Given the description of an element on the screen output the (x, y) to click on. 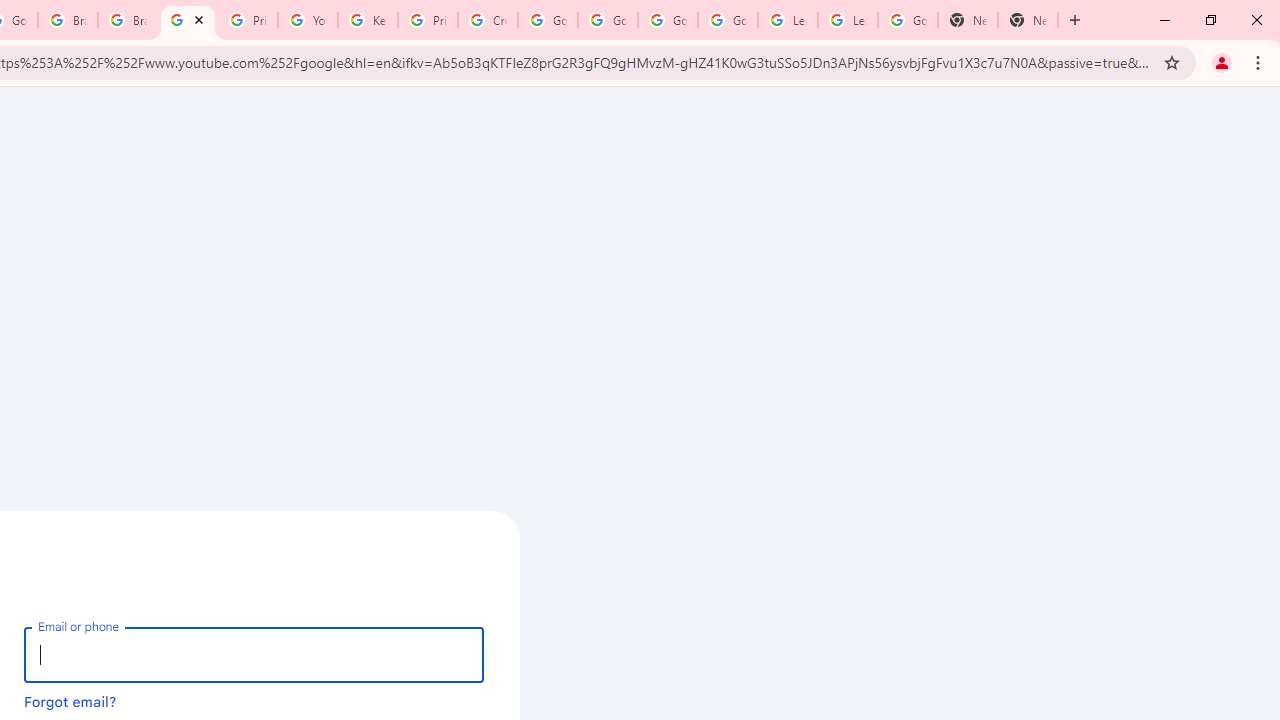
Google Account Help (548, 20)
Email or phone (253, 654)
New Tab (968, 20)
Create your Google Account (488, 20)
Brand Resource Center (68, 20)
YouTube (307, 20)
Google Account Help (727, 20)
